Given the description of an element on the screen output the (x, y) to click on. 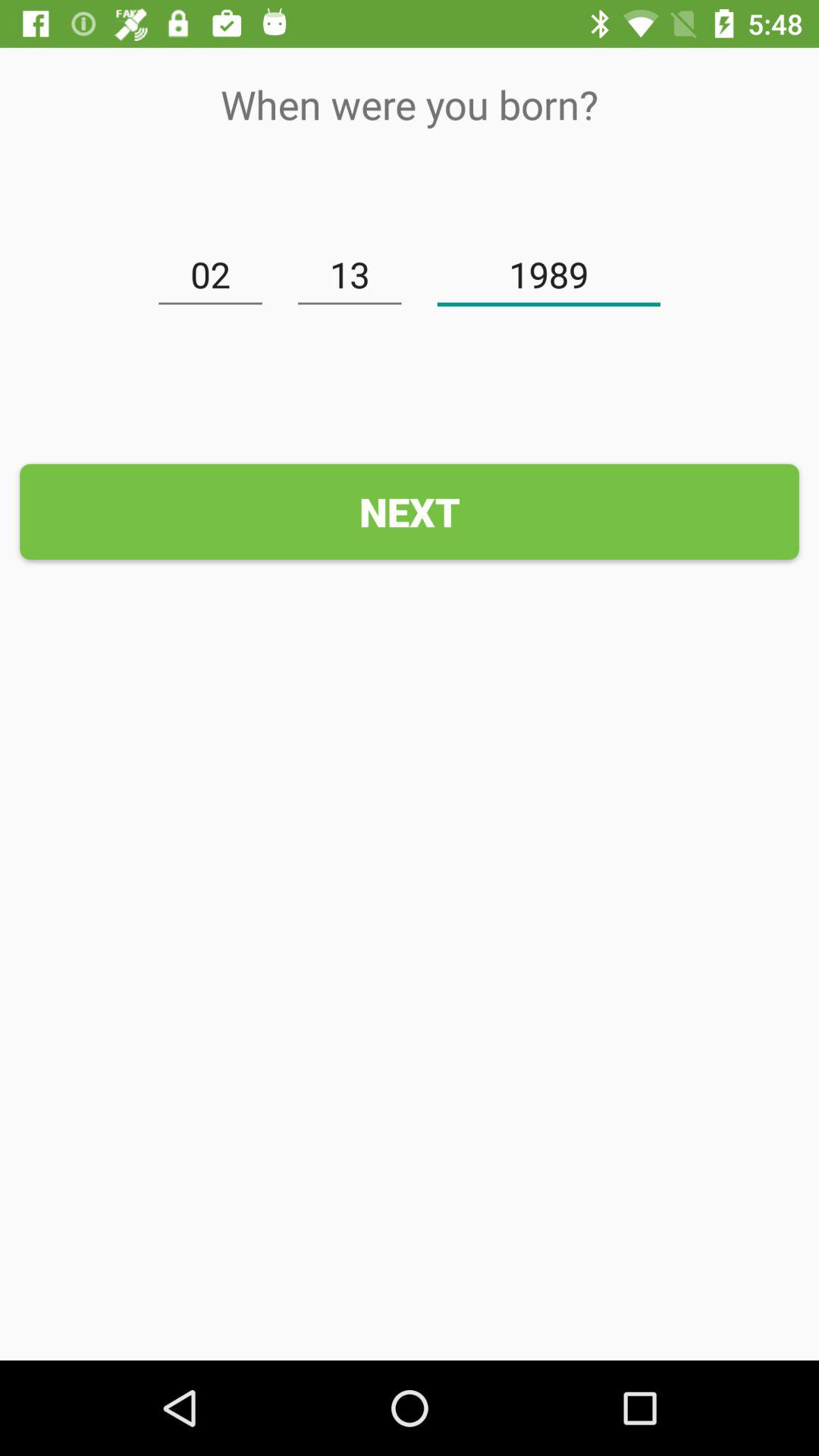
press 13 (349, 275)
